Given the description of an element on the screen output the (x, y) to click on. 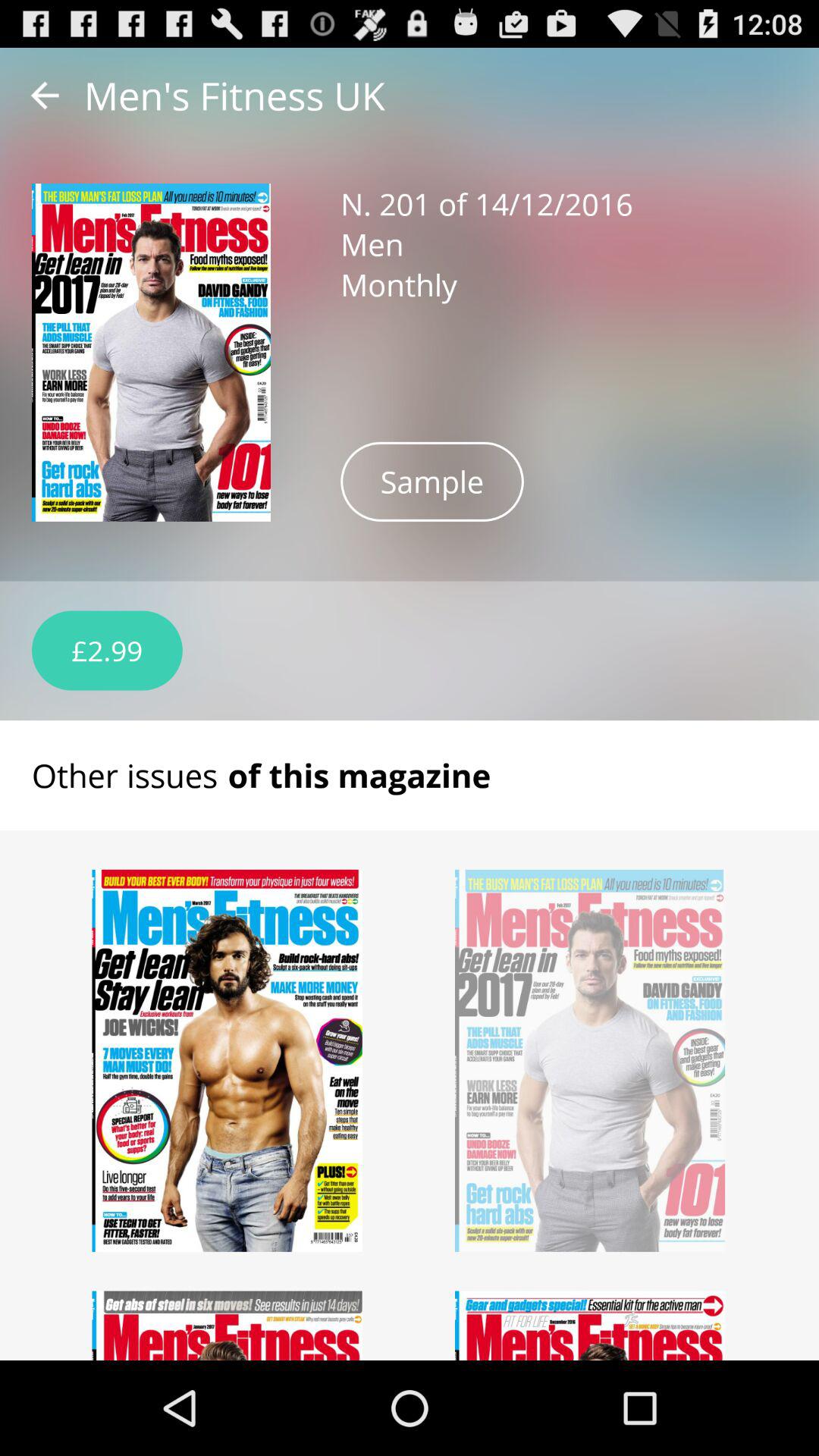
pick your magazine issue (227, 1325)
